Given the description of an element on the screen output the (x, y) to click on. 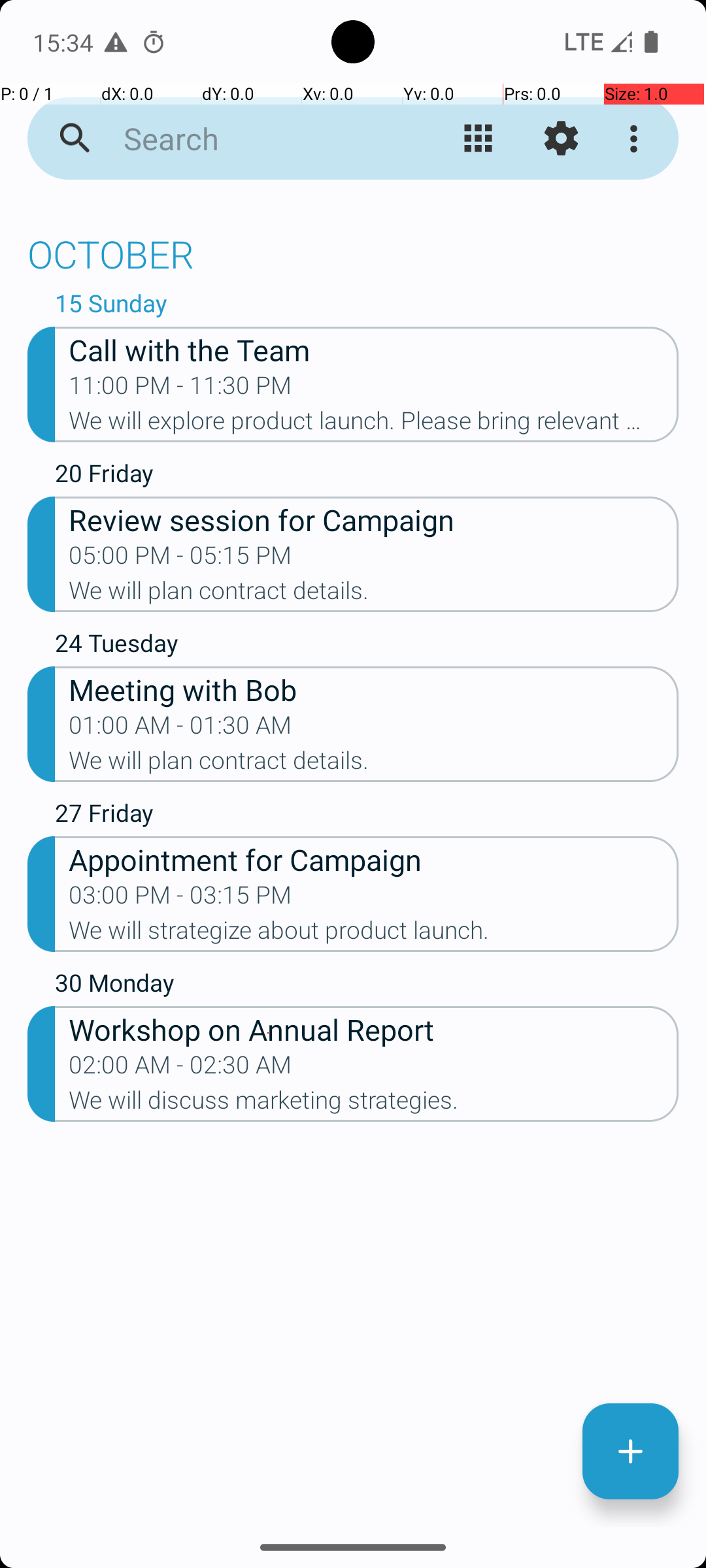
OCTOBER Element type: android.widget.TextView (353, 246)
15 Sunday Element type: android.widget.TextView (366, 306)
20 Friday Element type: android.widget.TextView (366, 476)
24 Tuesday Element type: android.widget.TextView (366, 645)
27 Friday Element type: android.widget.TextView (366, 815)
30 Monday Element type: android.widget.TextView (366, 985)
Call with the Team Element type: android.widget.TextView (373, 348)
11:00 PM - 11:30 PM Element type: android.widget.TextView (179, 389)
We will explore product launch. Please bring relevant documents. Element type: android.widget.TextView (373, 424)
Review session for Campaign Element type: android.widget.TextView (373, 518)
05:00 PM - 05:15 PM Element type: android.widget.TextView (179, 558)
We will plan contract details. Element type: android.widget.TextView (373, 594)
Meeting with Bob Element type: android.widget.TextView (373, 688)
01:00 AM - 01:30 AM Element type: android.widget.TextView (179, 728)
Appointment for Campaign Element type: android.widget.TextView (373, 858)
03:00 PM - 03:15 PM Element type: android.widget.TextView (179, 898)
We will strategize about product launch. Element type: android.widget.TextView (373, 933)
Workshop on Annual Report Element type: android.widget.TextView (373, 1028)
02:00 AM - 02:30 AM Element type: android.widget.TextView (179, 1068)
We will discuss marketing strategies. Element type: android.widget.TextView (373, 1103)
